Given the description of an element on the screen output the (x, y) to click on. 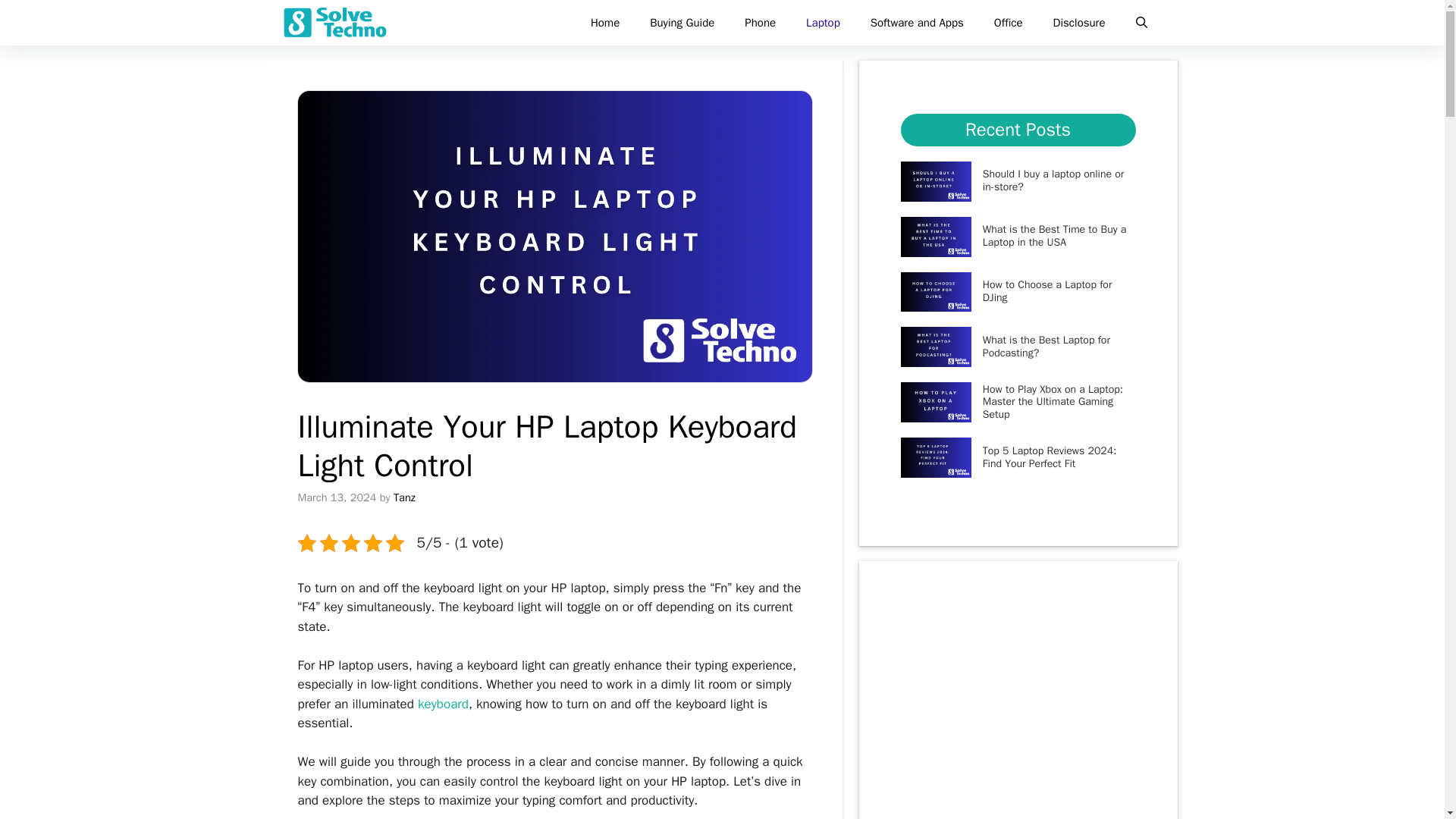
Buying Guide (681, 22)
Phone (759, 22)
Office (1008, 22)
View all posts by Tanz (403, 497)
Home (604, 22)
keyboard (442, 703)
Laptop (823, 22)
Disclosure (1079, 22)
Tanz (403, 497)
